Given the description of an element on the screen output the (x, y) to click on. 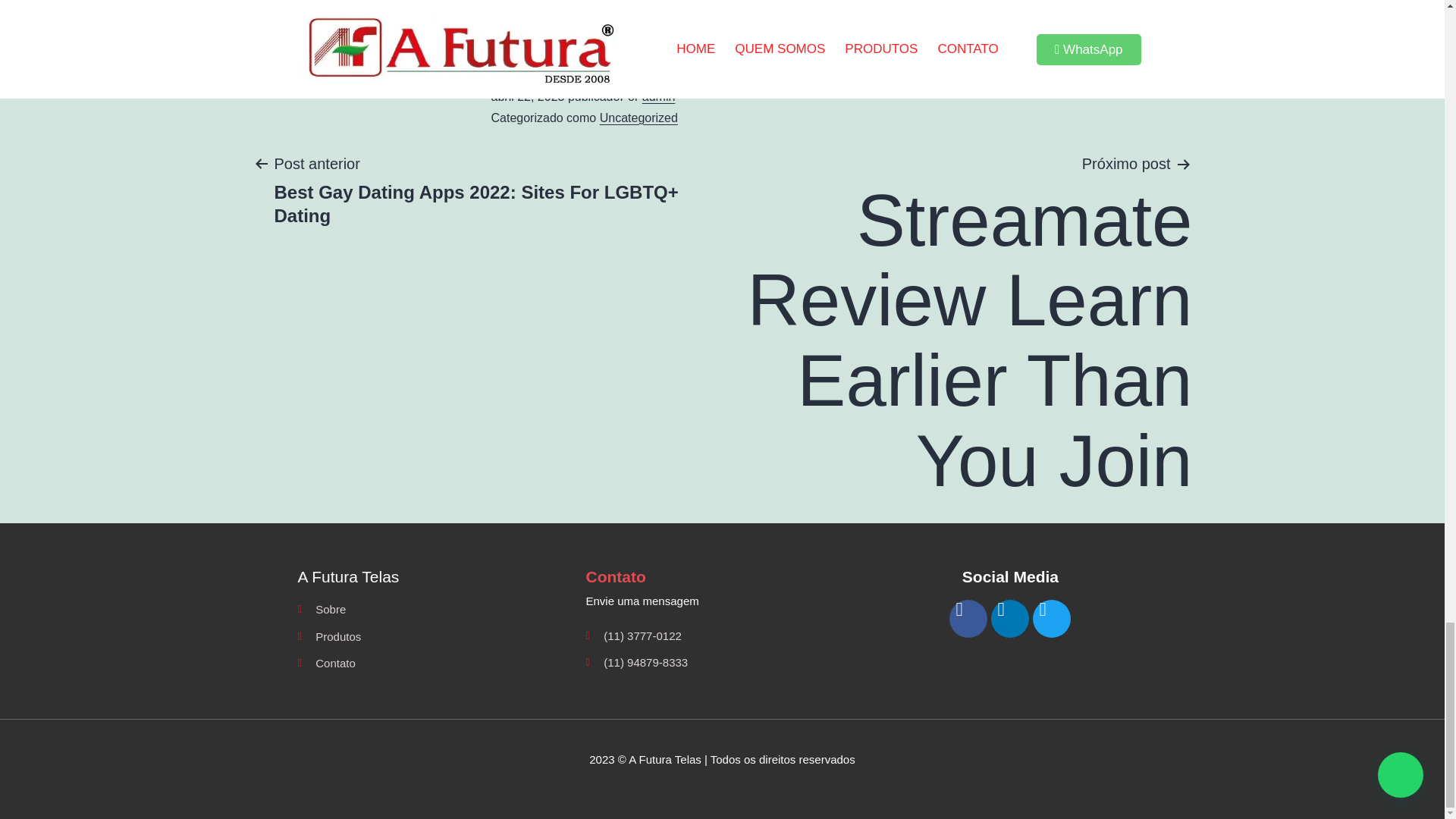
admin (658, 96)
Envie uma mensagem (722, 600)
Uncategorized (638, 117)
Sobre (433, 609)
Contato (433, 663)
Produtos (433, 637)
